Given the description of an element on the screen output the (x, y) to click on. 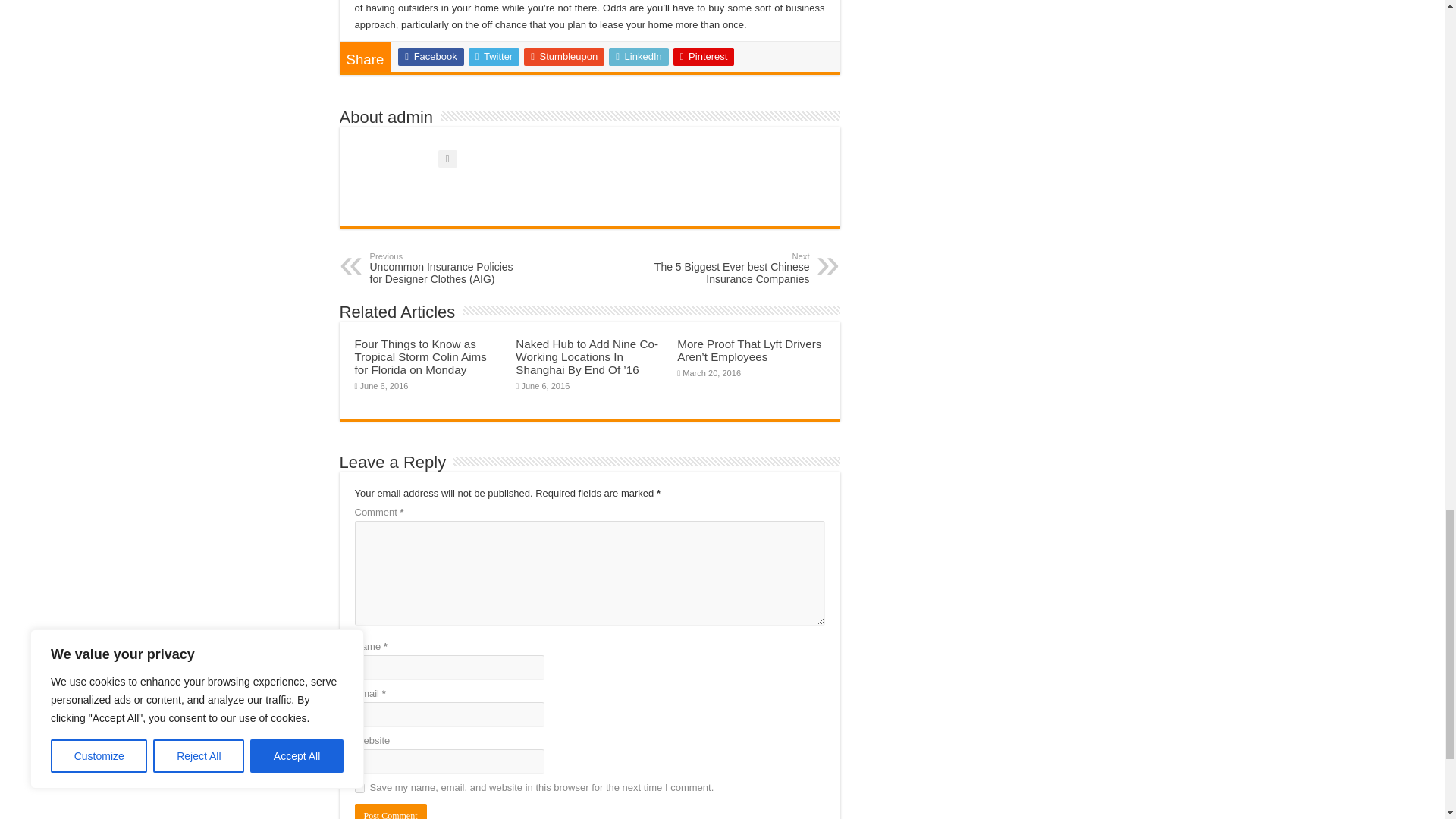
Post Comment (390, 811)
yes (360, 787)
